Given the description of an element on the screen output the (x, y) to click on. 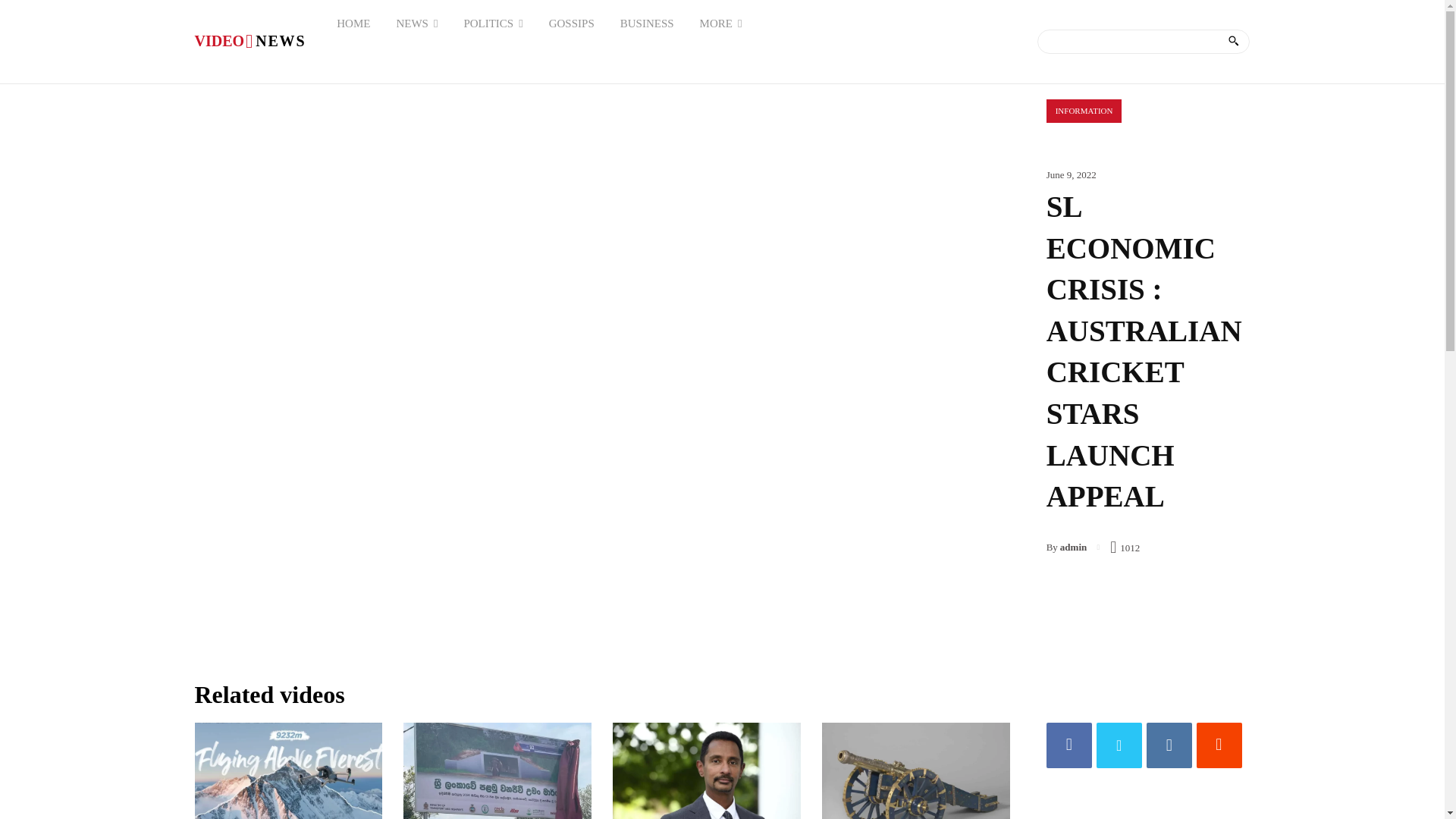
POLITICS (492, 23)
GOSSIPS (571, 23)
DJI Releases Stunning New Drone Footage of Mount Everest (249, 40)
NEWS (287, 770)
BUSINESS (415, 23)
HOME (647, 23)
